Given the description of an element on the screen output the (x, y) to click on. 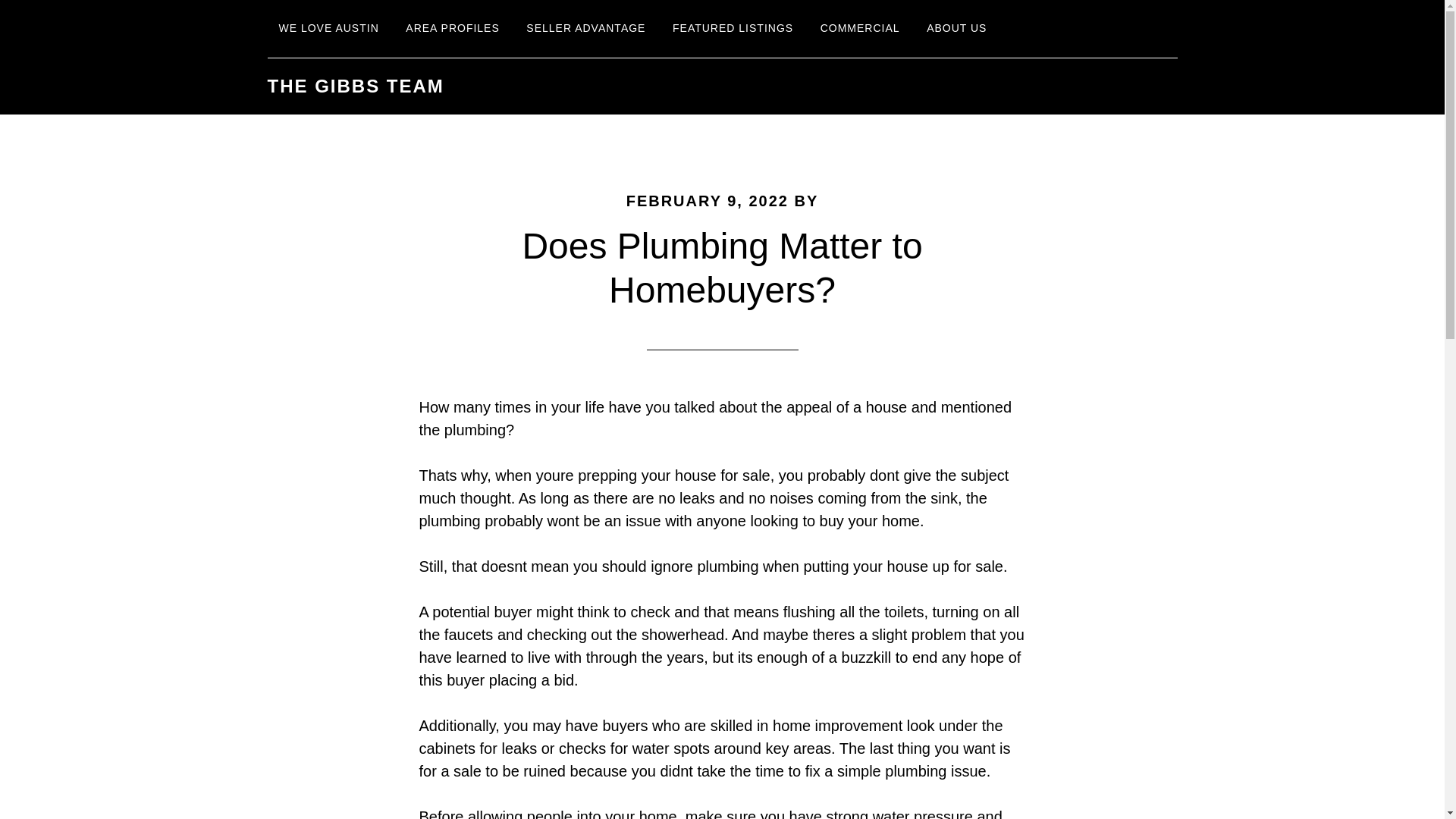
THE GIBBS TEAM (355, 86)
WE LOVE AUSTIN (328, 28)
AREA PROFILES (452, 28)
FEATURED LISTINGS (733, 28)
SELLER ADVANTAGE (585, 28)
ABOUT US (956, 28)
COMMERCIAL (860, 28)
